Given the description of an element on the screen output the (x, y) to click on. 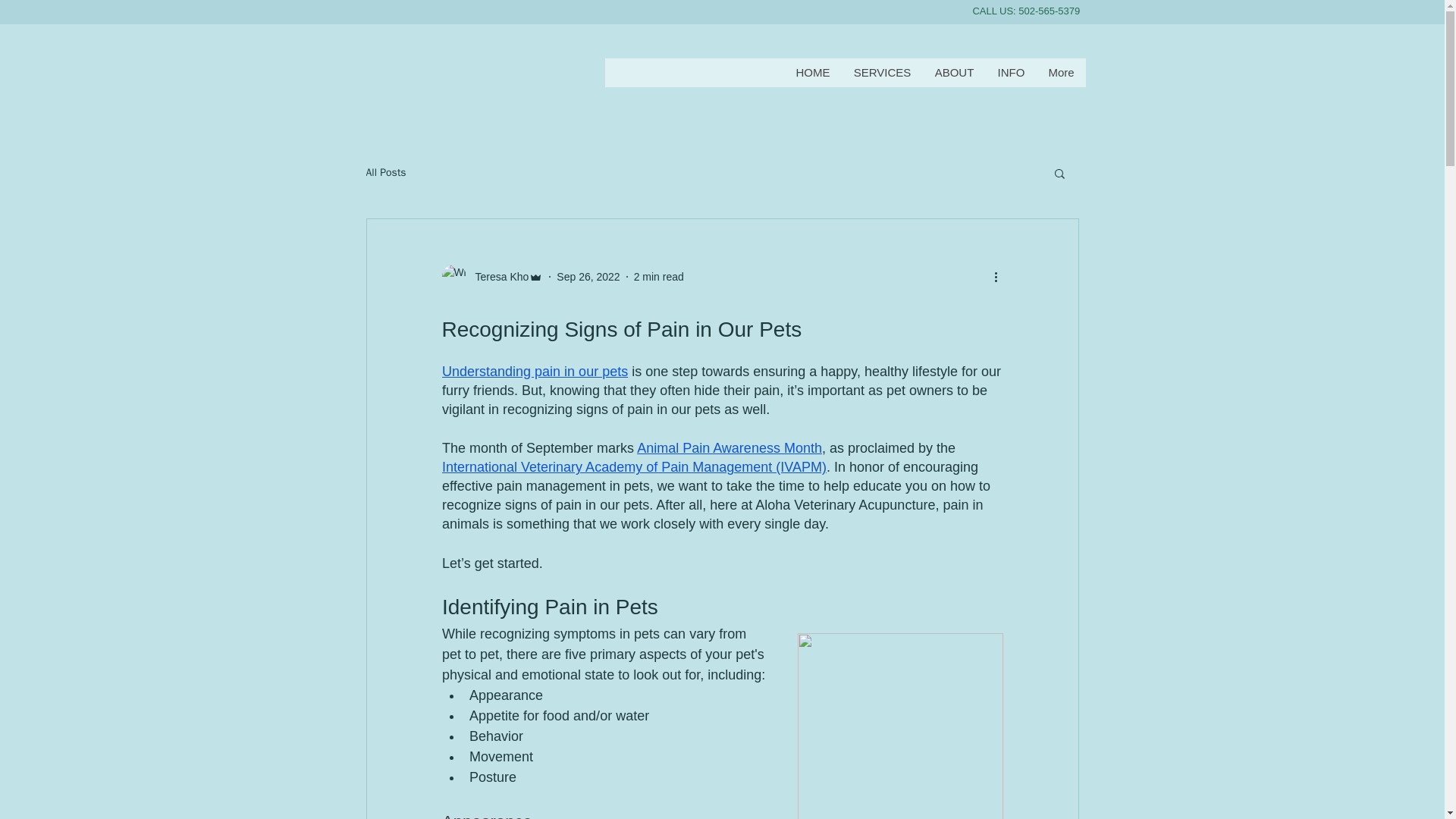
INFO (1010, 72)
ABOUT (953, 72)
Understanding pain in our pets (534, 371)
Animal Pain Awareness Month (729, 447)
HOME (812, 72)
2 min read (658, 275)
Teresa Kho (496, 276)
Teresa Kho (492, 276)
Sep 26, 2022 (588, 275)
All Posts (385, 172)
